Given the description of an element on the screen output the (x, y) to click on. 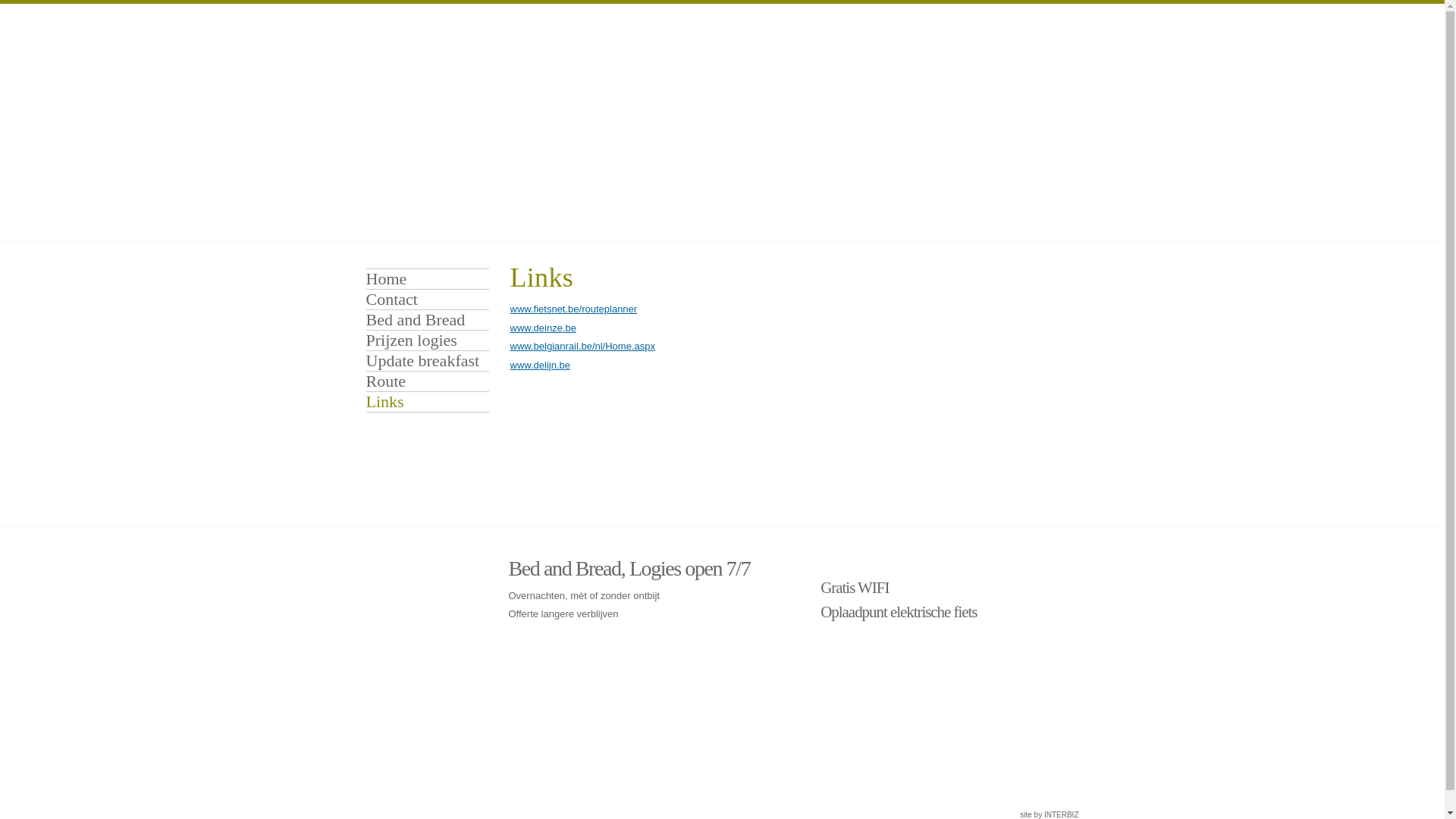
Home Element type: text (427, 278)
Update breakfast Element type: text (427, 360)
Route Element type: text (427, 381)
Bed and Bread Element type: text (427, 319)
www.deinze.be Element type: text (542, 326)
www.belgianrail.be/nl/Home.aspx Element type: text (581, 345)
Links Element type: text (427, 401)
Contact Element type: text (427, 299)
Prijzen logies Element type: text (427, 340)
Overslaan en naar de algemene inhoud gaan Element type: text (98, 3)
www.fietsnet.be/routeplanner Element type: text (573, 308)
www.delijn.be Element type: text (539, 364)
